Given the description of an element on the screen output the (x, y) to click on. 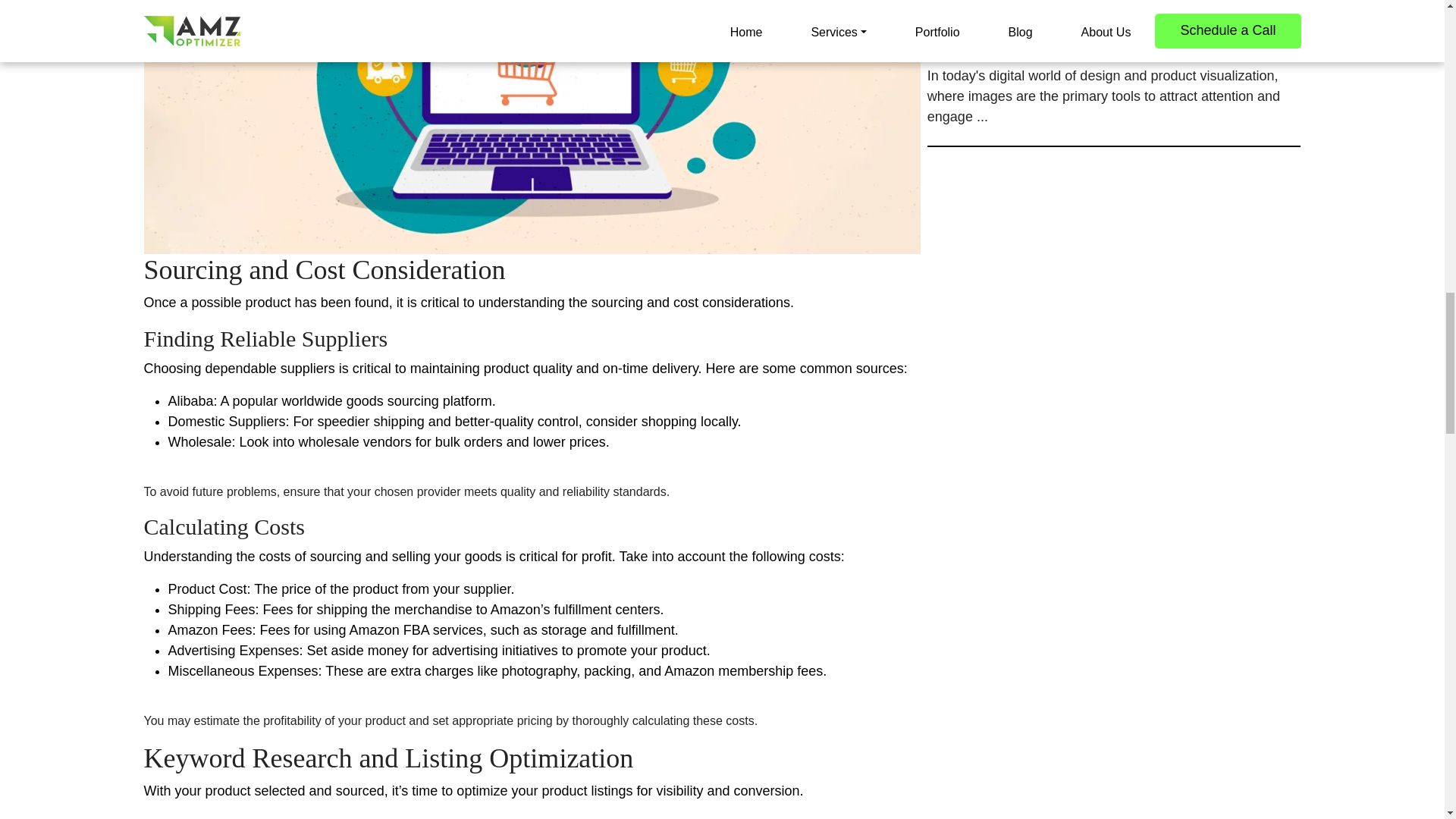
Where Can You Find Quality 3D Rendering Products (1114, 44)
